Given the description of an element on the screen output the (x, y) to click on. 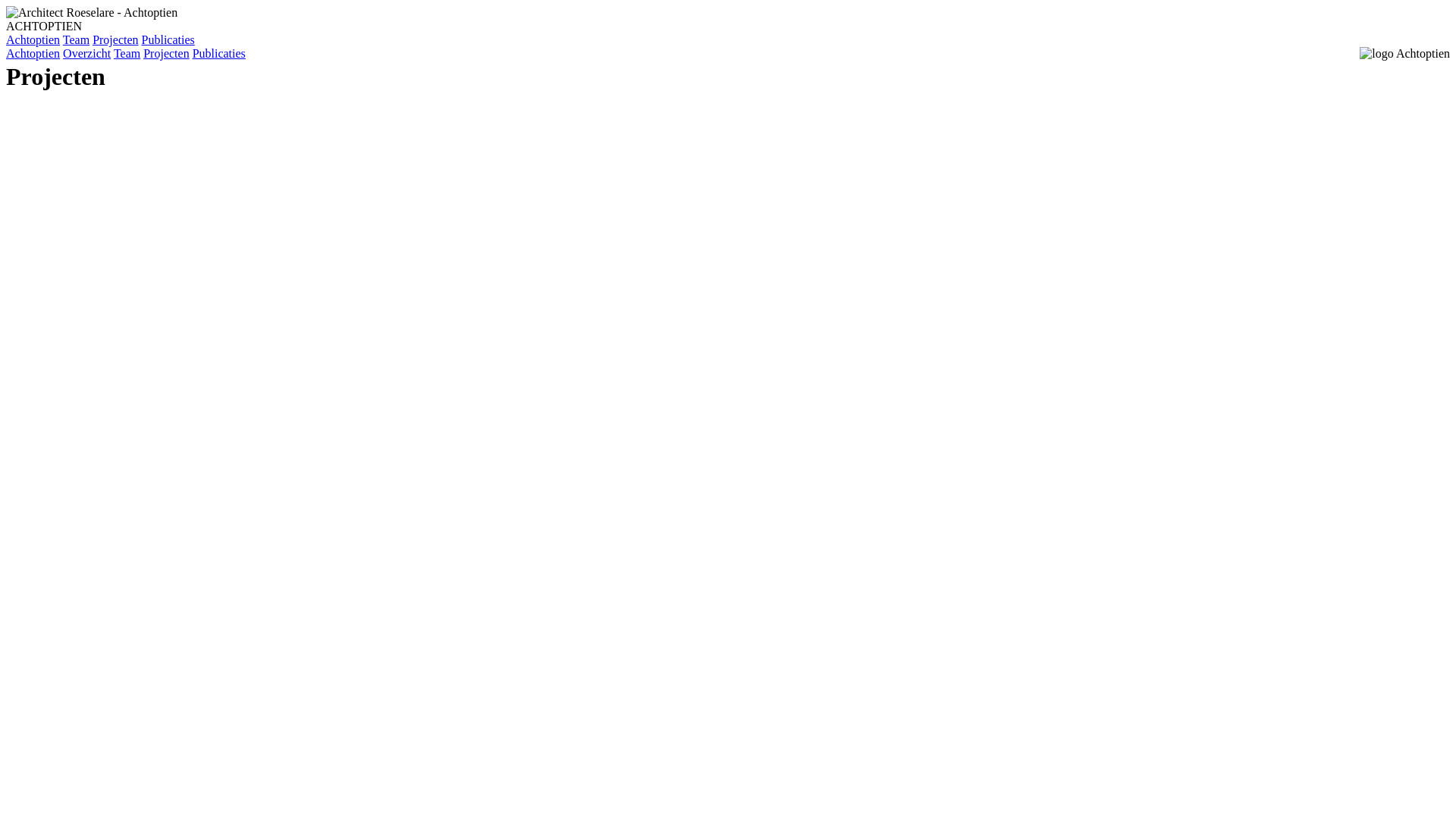
Overzicht Element type: text (86, 53)
Projecten Element type: text (165, 53)
Team Element type: text (126, 53)
Projecten Element type: text (115, 39)
Team Element type: text (75, 39)
Achtoptien Element type: text (32, 39)
Publicaties Element type: text (167, 39)
Achtoptien Element type: text (32, 53)
Architect Roeselare - Achtoptien Element type: hover (91, 12)
Publicaties Element type: text (218, 53)
